Given the description of an element on the screen output the (x, y) to click on. 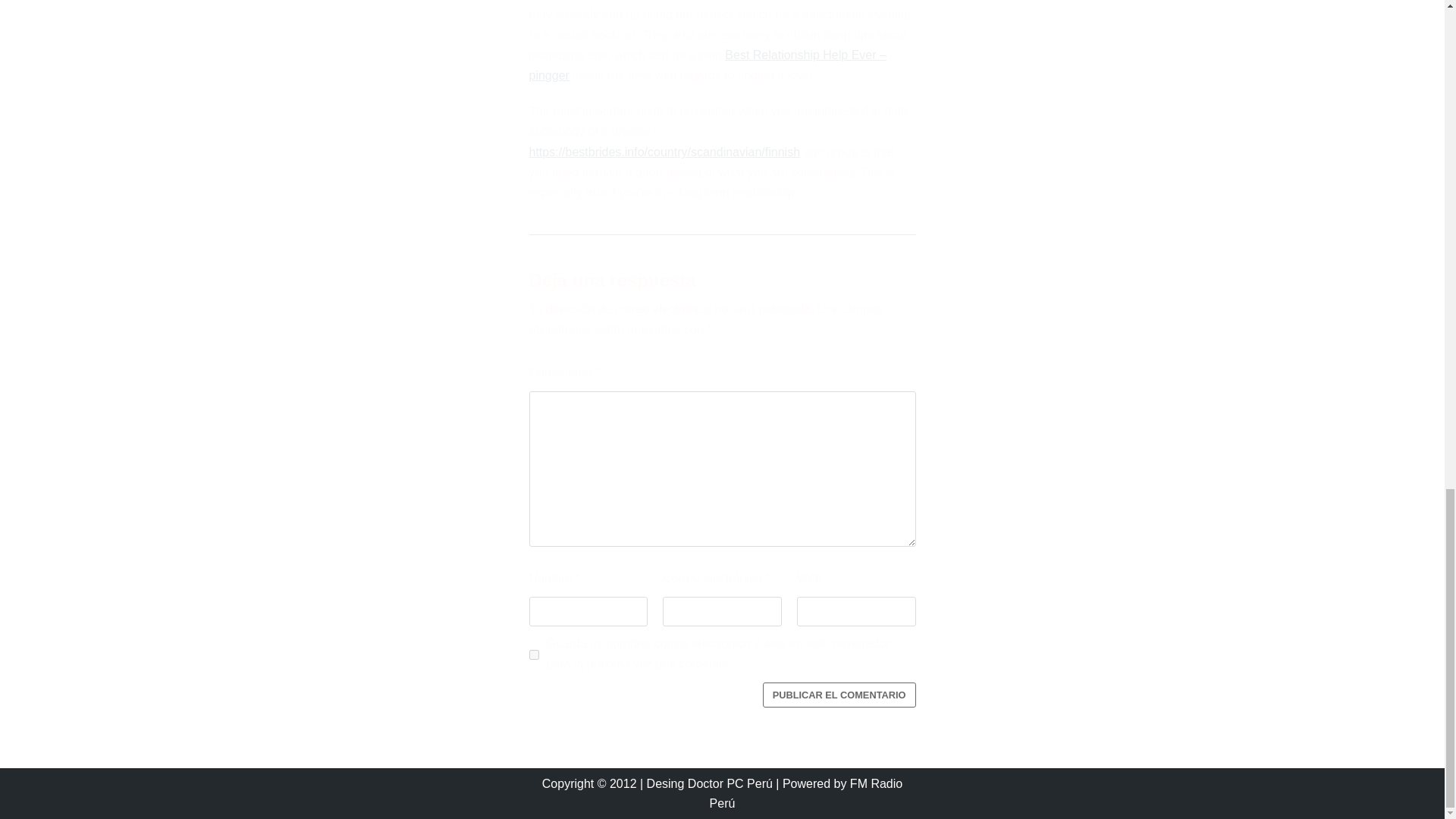
yes (533, 655)
Publicar el comentario (838, 694)
Publicar el comentario (838, 694)
